Given the description of an element on the screen output the (x, y) to click on. 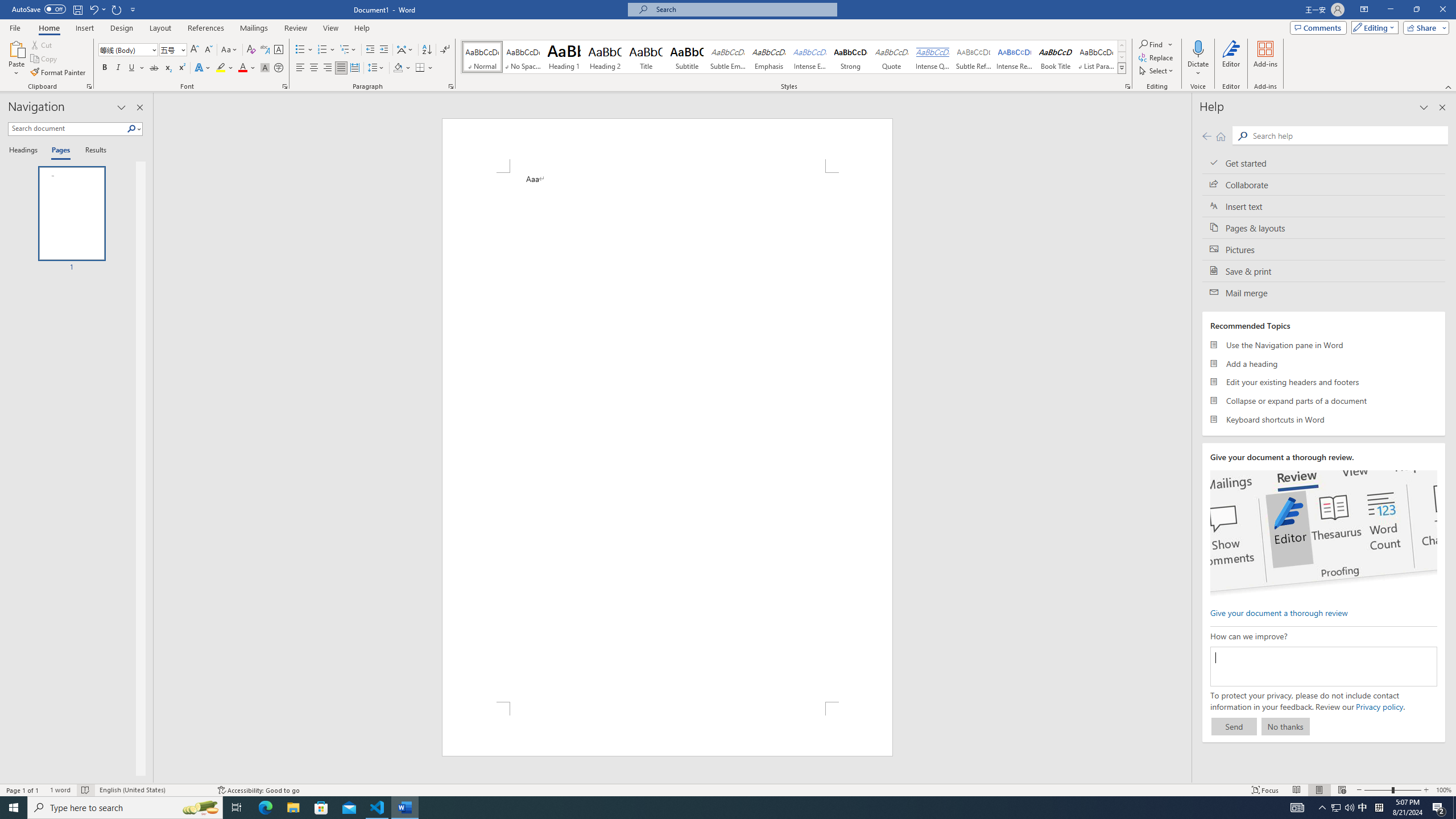
Character Border (278, 49)
Close pane (139, 107)
Office Clipboard... (88, 85)
Undo Increase Indent (92, 9)
System (6, 6)
Review (295, 28)
Quote (891, 56)
Search document (66, 128)
Distributed (354, 67)
Headings (25, 150)
Title (646, 56)
Intense Reference (1014, 56)
Text Highlight Color Yellow (220, 67)
Heading 1 (564, 56)
